Given the description of an element on the screen output the (x, y) to click on. 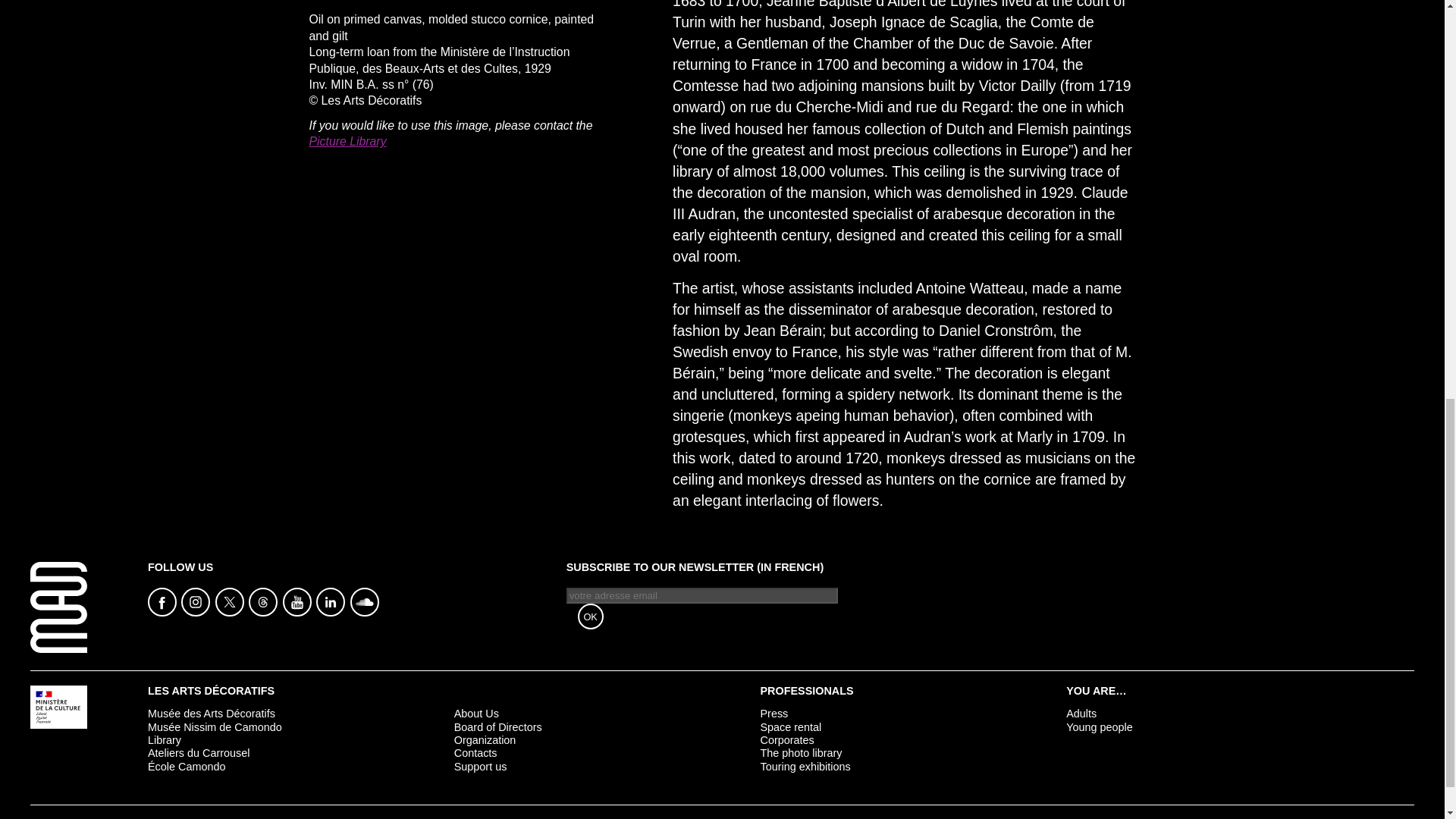
OK (591, 616)
